Given the description of an element on the screen output the (x, y) to click on. 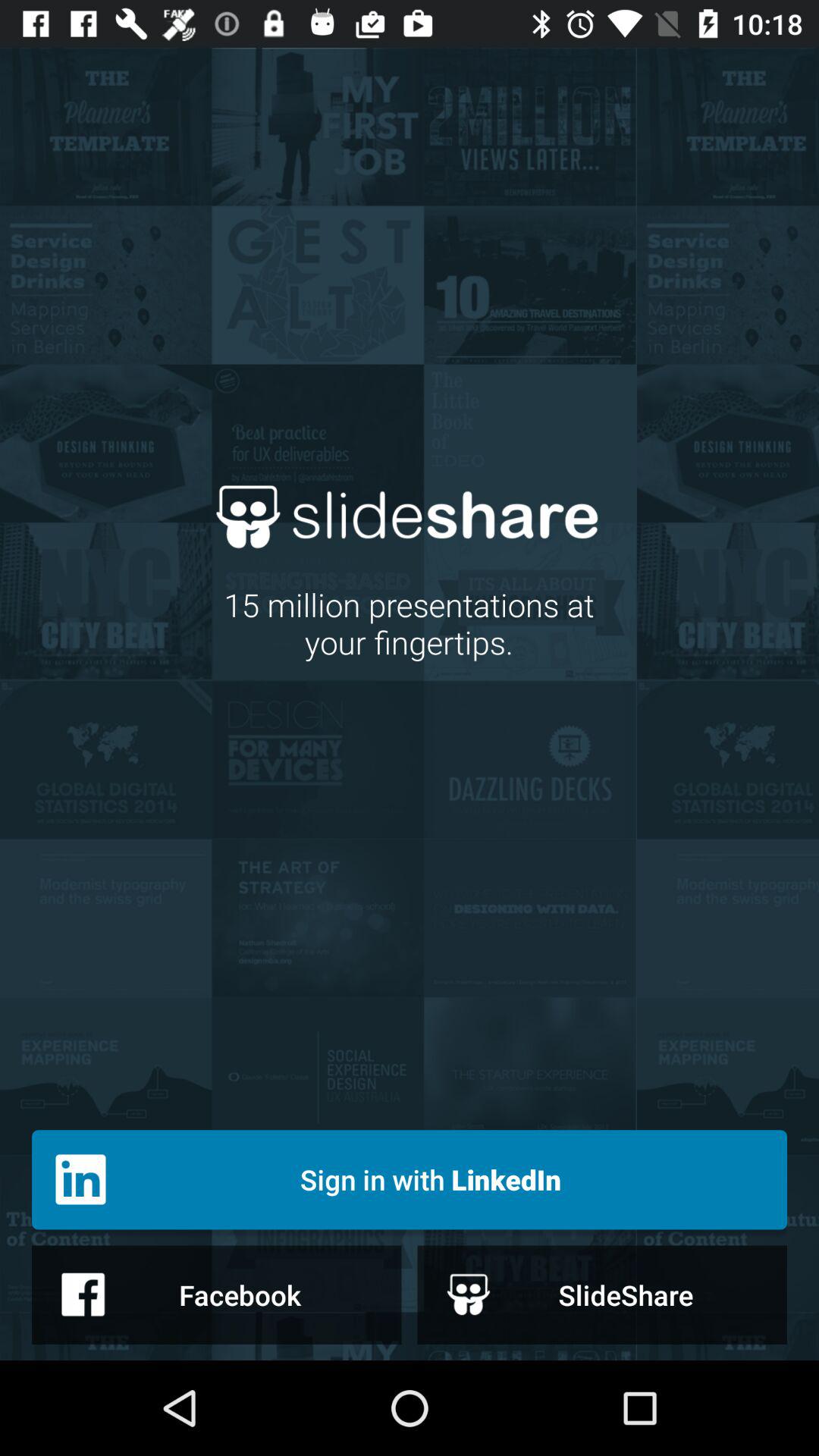
launch icon at the bottom left corner (216, 1294)
